Given the description of an element on the screen output the (x, y) to click on. 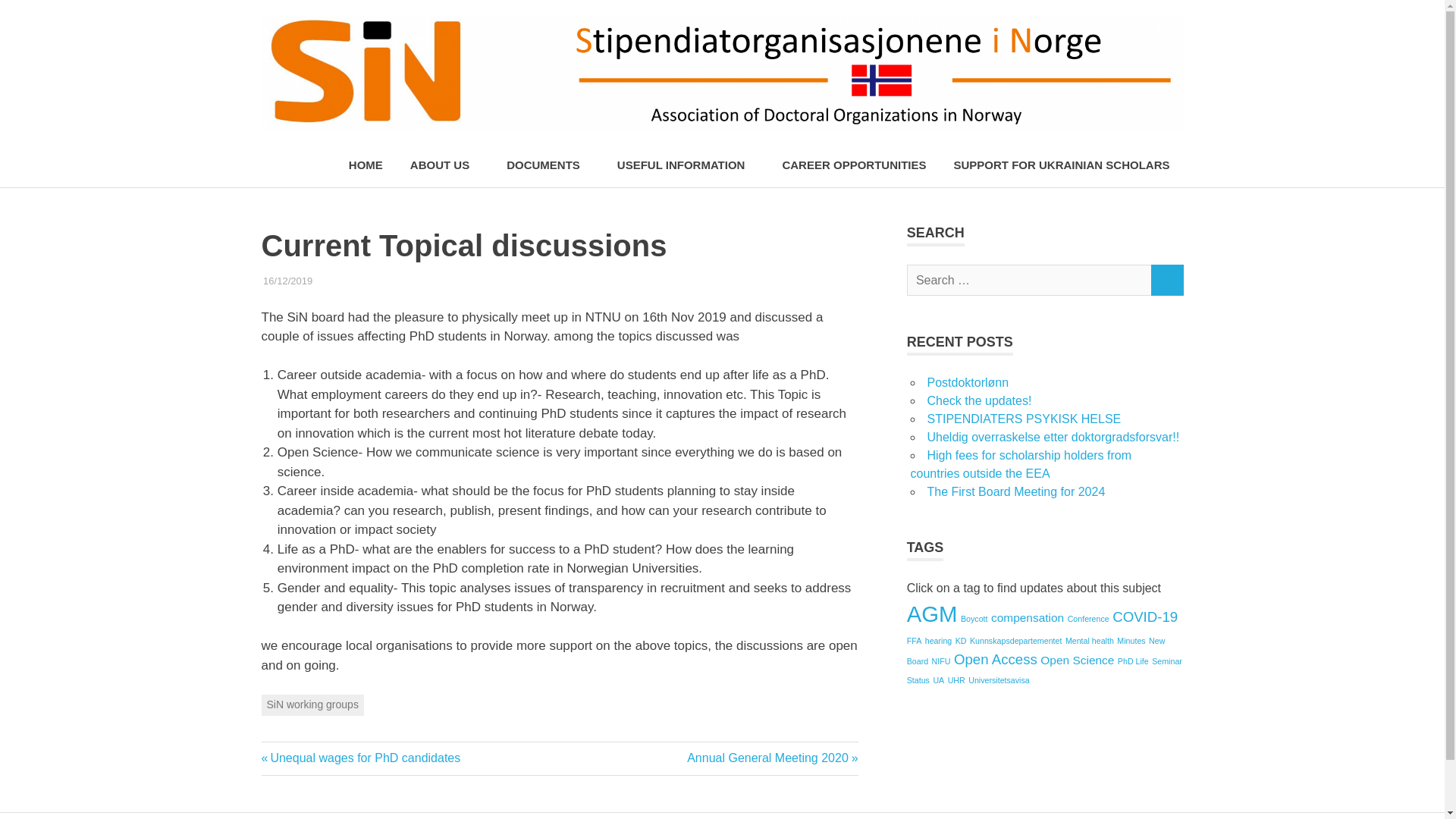
USEFUL INFORMATION (686, 165)
Search for: (1029, 279)
ABOUT US (444, 165)
12:16 (288, 280)
185215914561974 (353, 280)
DOCUMENTS (548, 165)
NEWS (421, 280)
BOARD MEETINGS (357, 280)
SUPPORT FOR UKRAINIAN SCHOLARS (1060, 165)
View all posts by 185215914561974 (353, 280)
SIN (450, 280)
CAREER OPPORTUNITIES (853, 165)
HOME (365, 165)
